Given the description of an element on the screen output the (x, y) to click on. 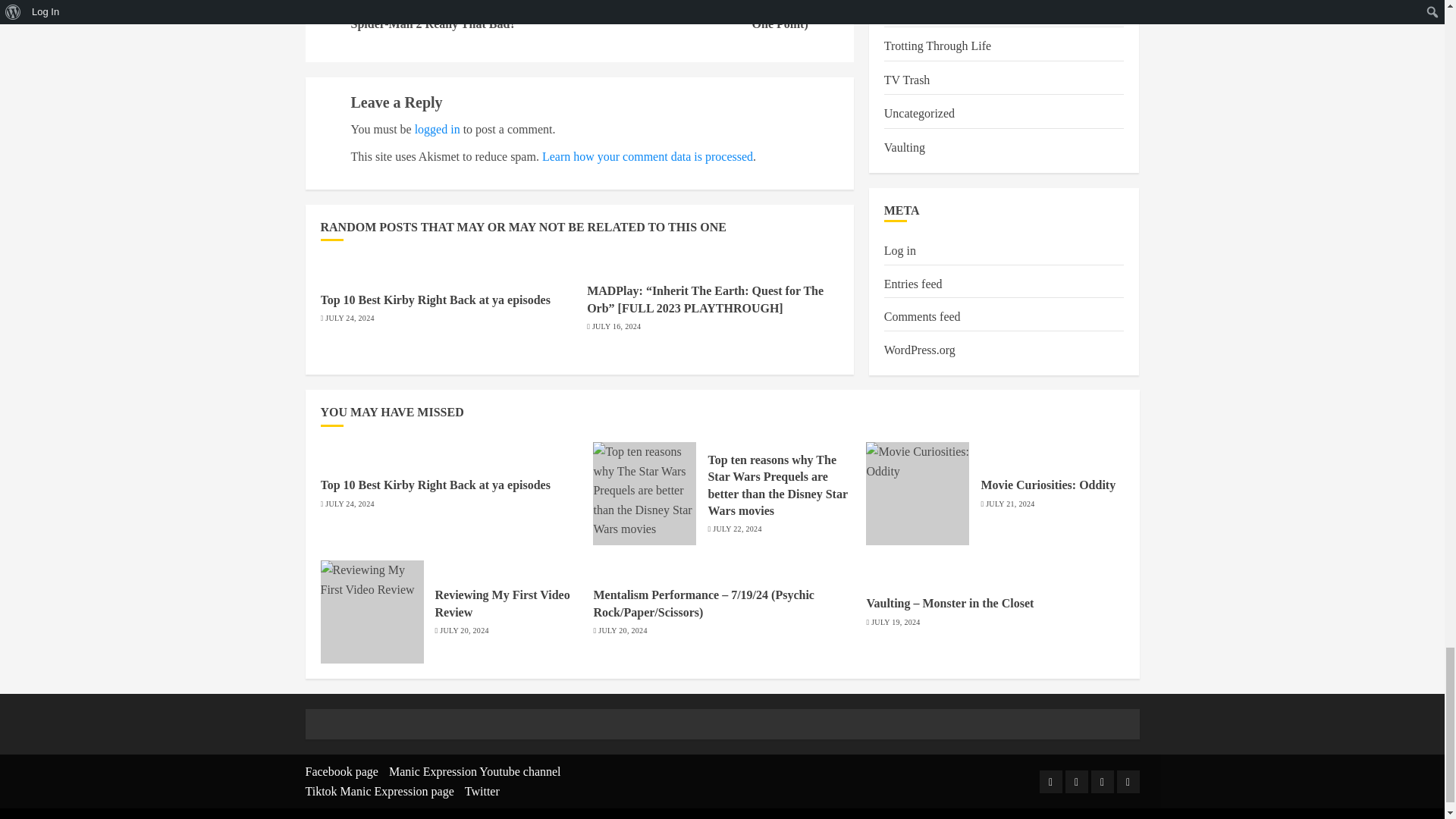
Reviewing My First Video Review (371, 611)
Movie Curiosities: Oddity (917, 493)
